Given the description of an element on the screen output the (x, y) to click on. 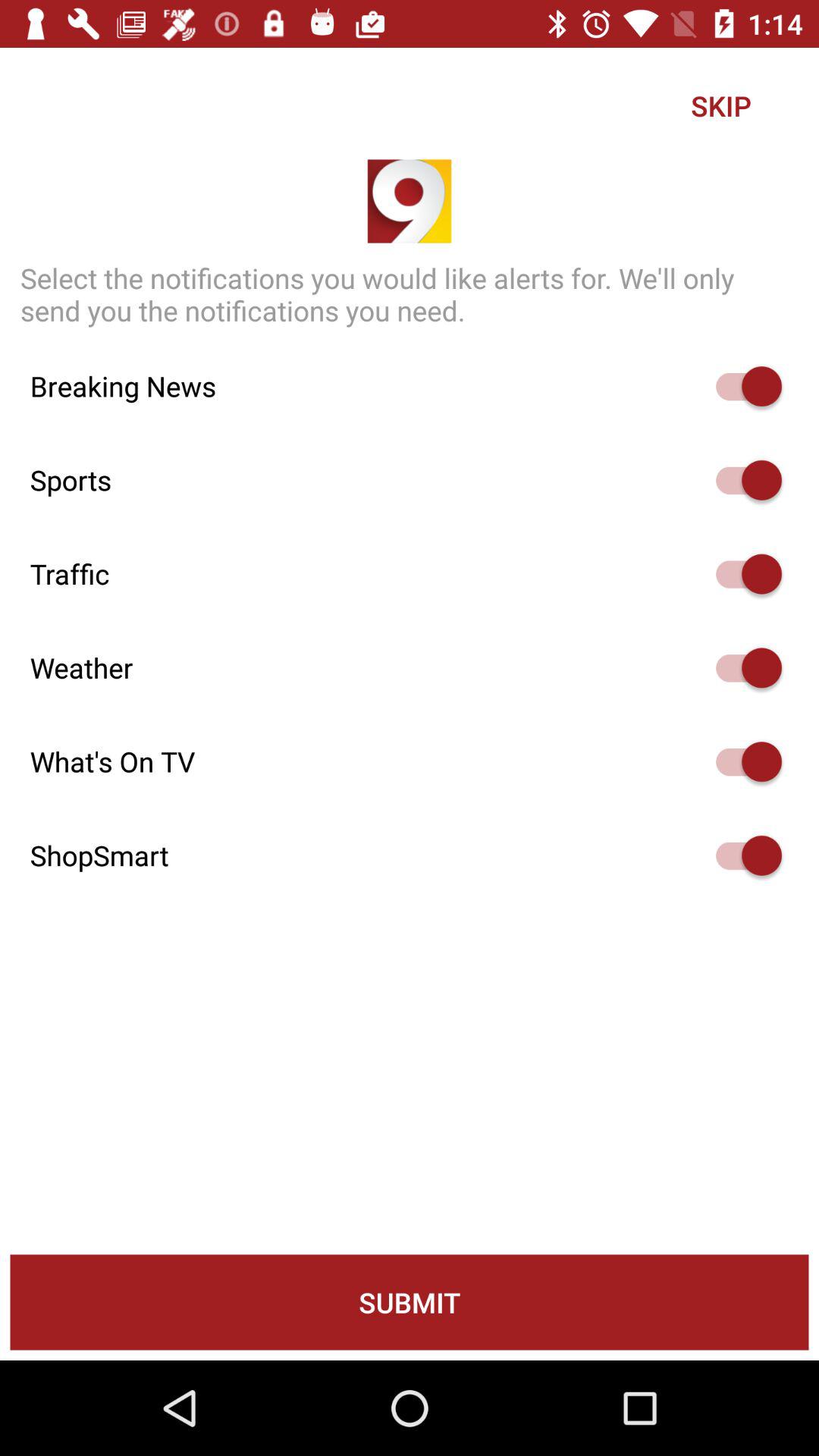
unselect weather (741, 667)
